Given the description of an element on the screen output the (x, y) to click on. 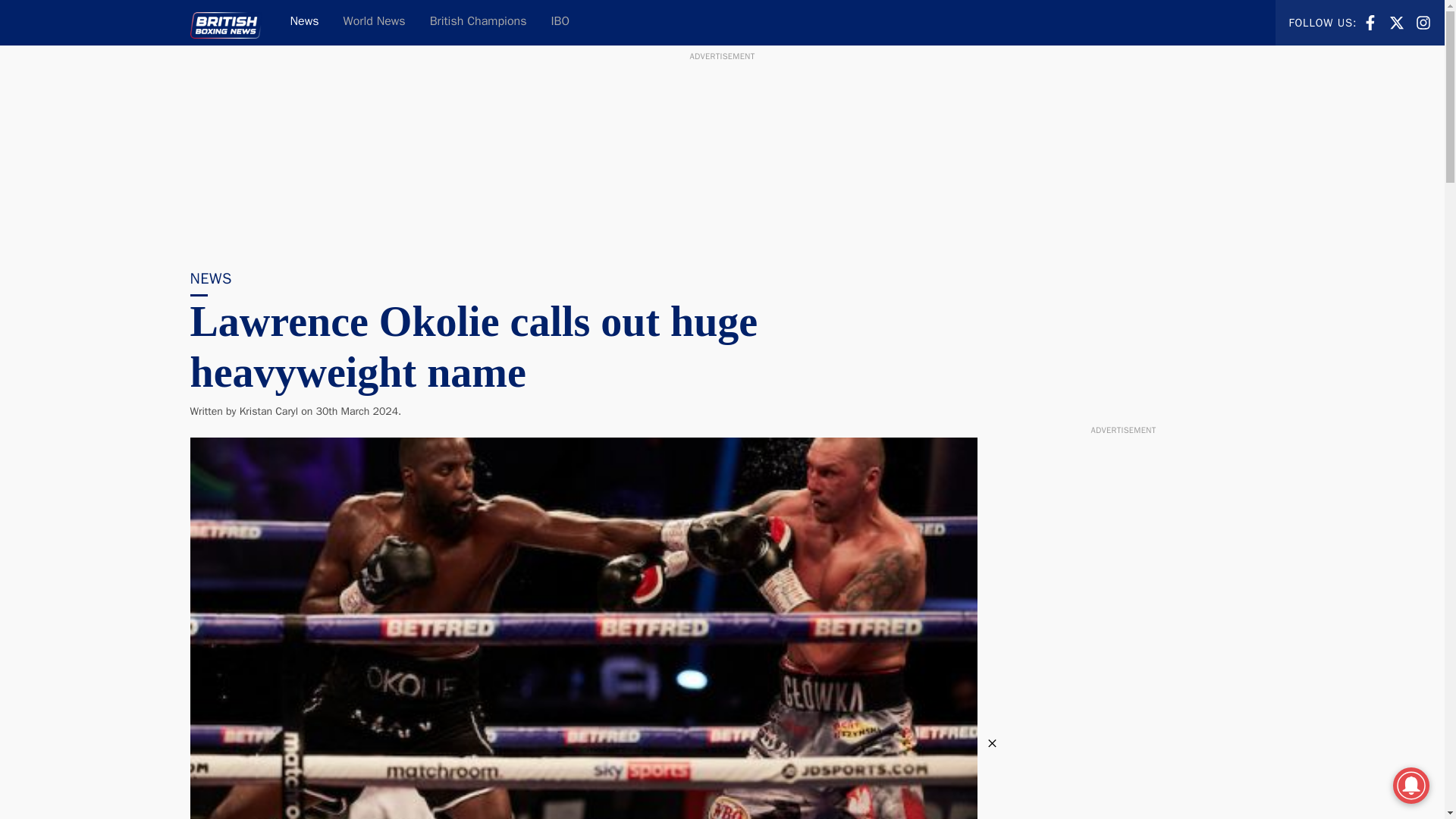
X (1397, 22)
News (1397, 21)
World News (304, 22)
INSTAGRAM (374, 22)
British Champions (1423, 22)
IBO (477, 22)
Kristan Caryl (1423, 21)
